Given the description of an element on the screen output the (x, y) to click on. 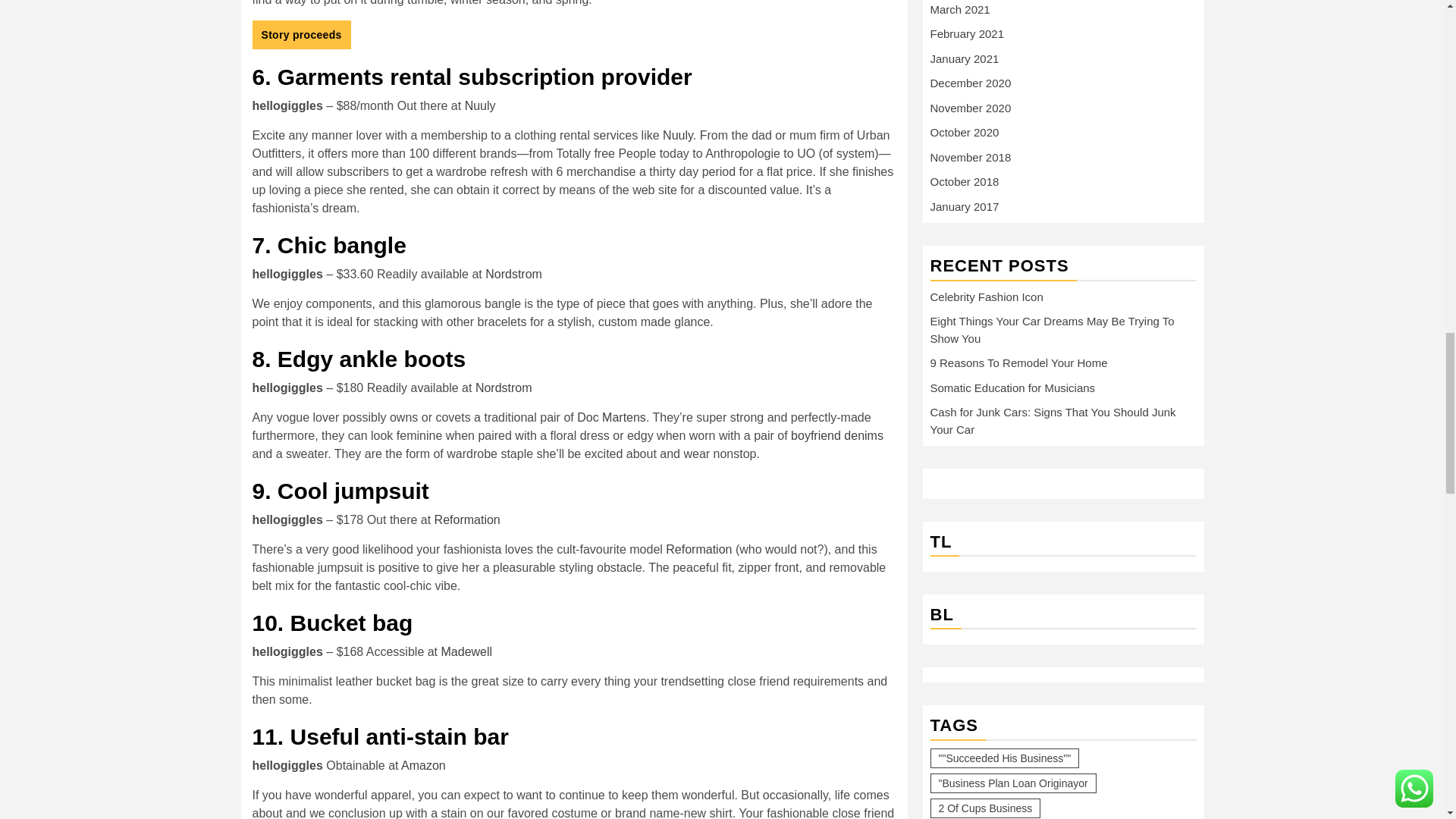
Story proceeds (300, 34)
Nuuly (480, 105)
